Given the description of an element on the screen output the (x, y) to click on. 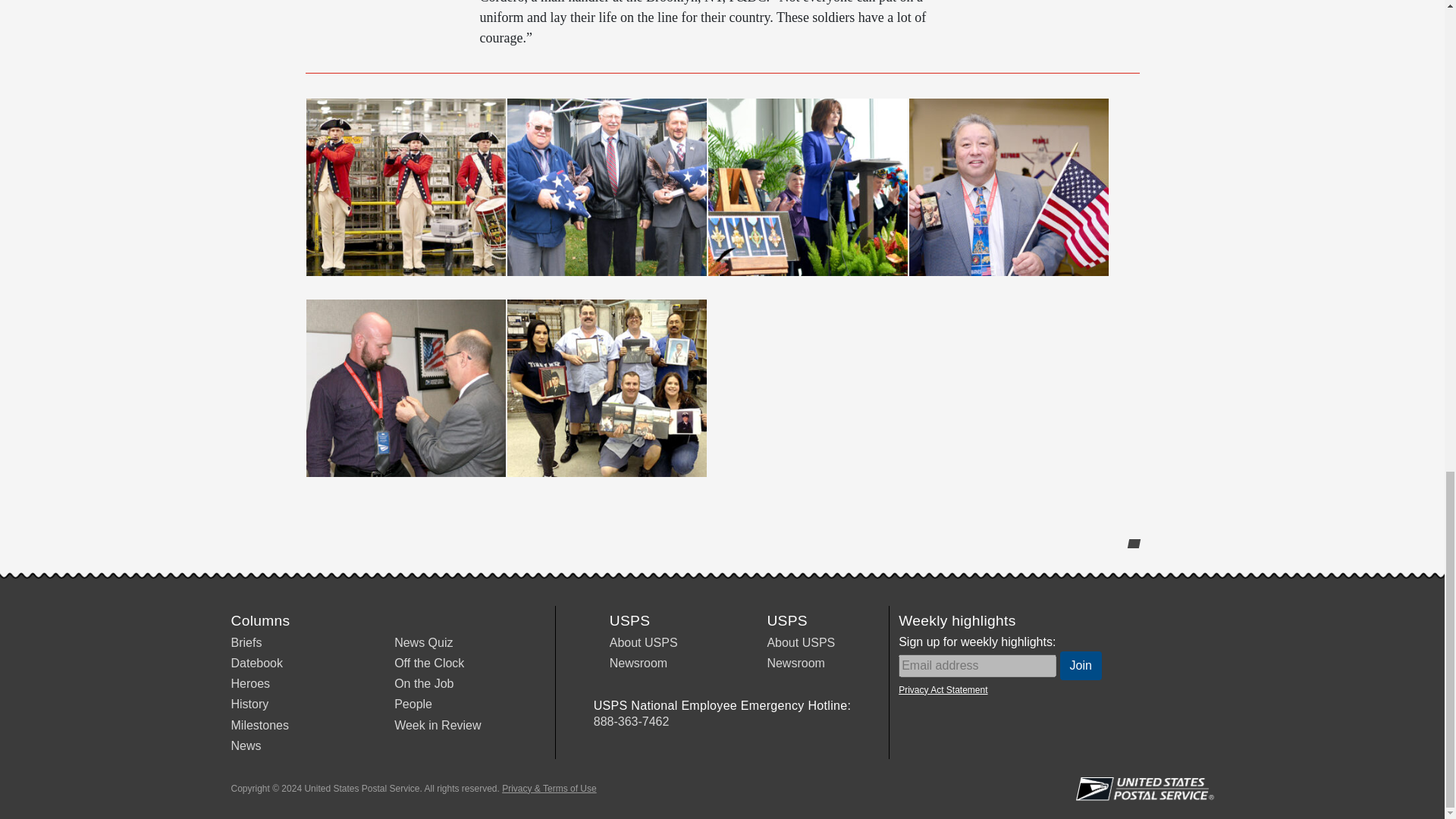
Off the Clock (429, 662)
On the Job (423, 683)
Heroes (249, 683)
Datebook (256, 662)
Join (1080, 665)
Milestones (259, 725)
History (248, 703)
Briefs (246, 642)
News Quiz (423, 642)
News (245, 745)
